Given the description of an element on the screen output the (x, y) to click on. 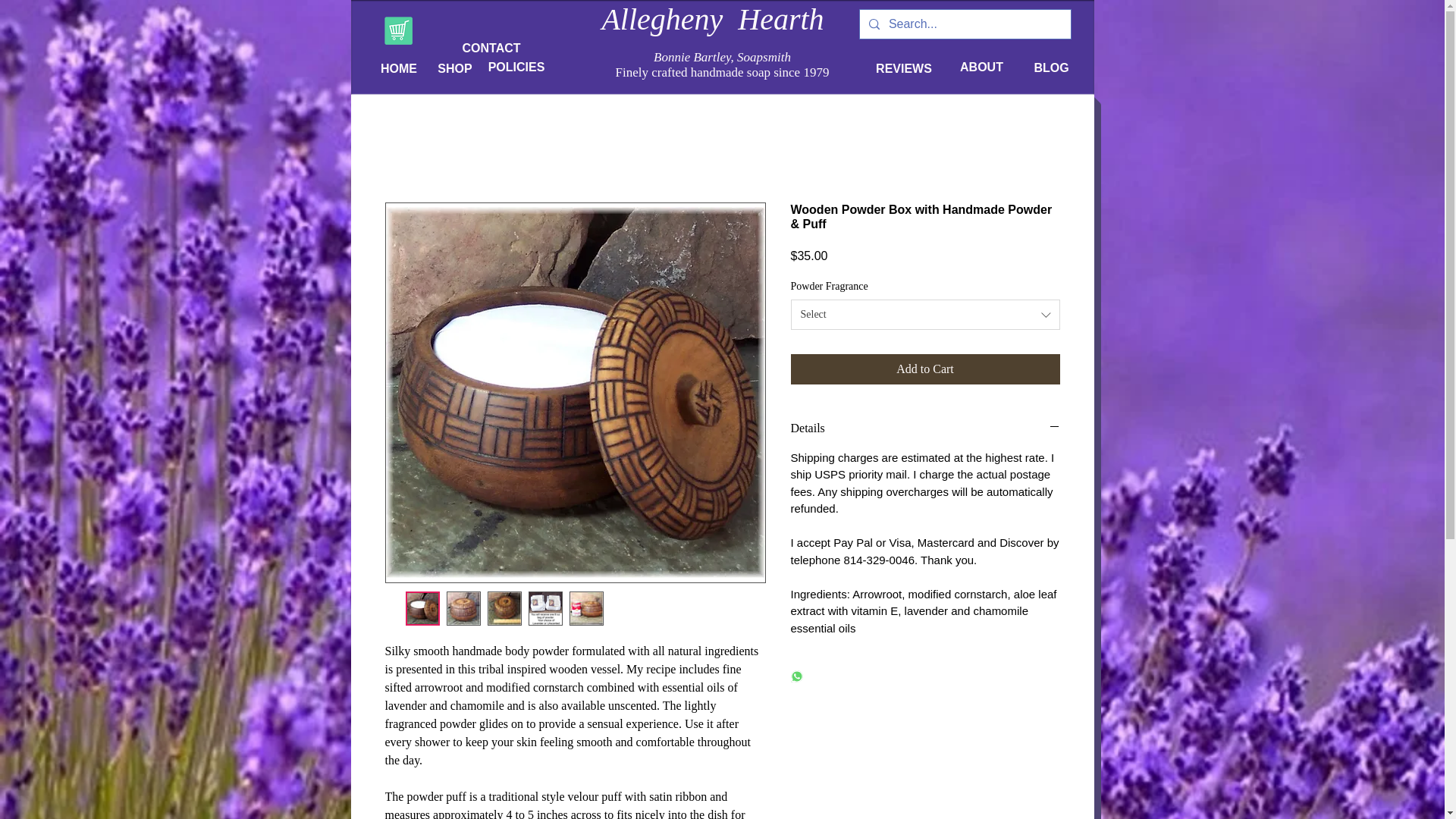
REVIEWS (903, 68)
Allegheny  Hearth (712, 19)
Add to Cart (924, 368)
CONTACT (490, 48)
HOME (397, 68)
Details (924, 428)
BLOG (1051, 68)
POLICIES (515, 66)
Select (924, 314)
SHOP (455, 68)
ABOUT (980, 67)
